Given the description of an element on the screen output the (x, y) to click on. 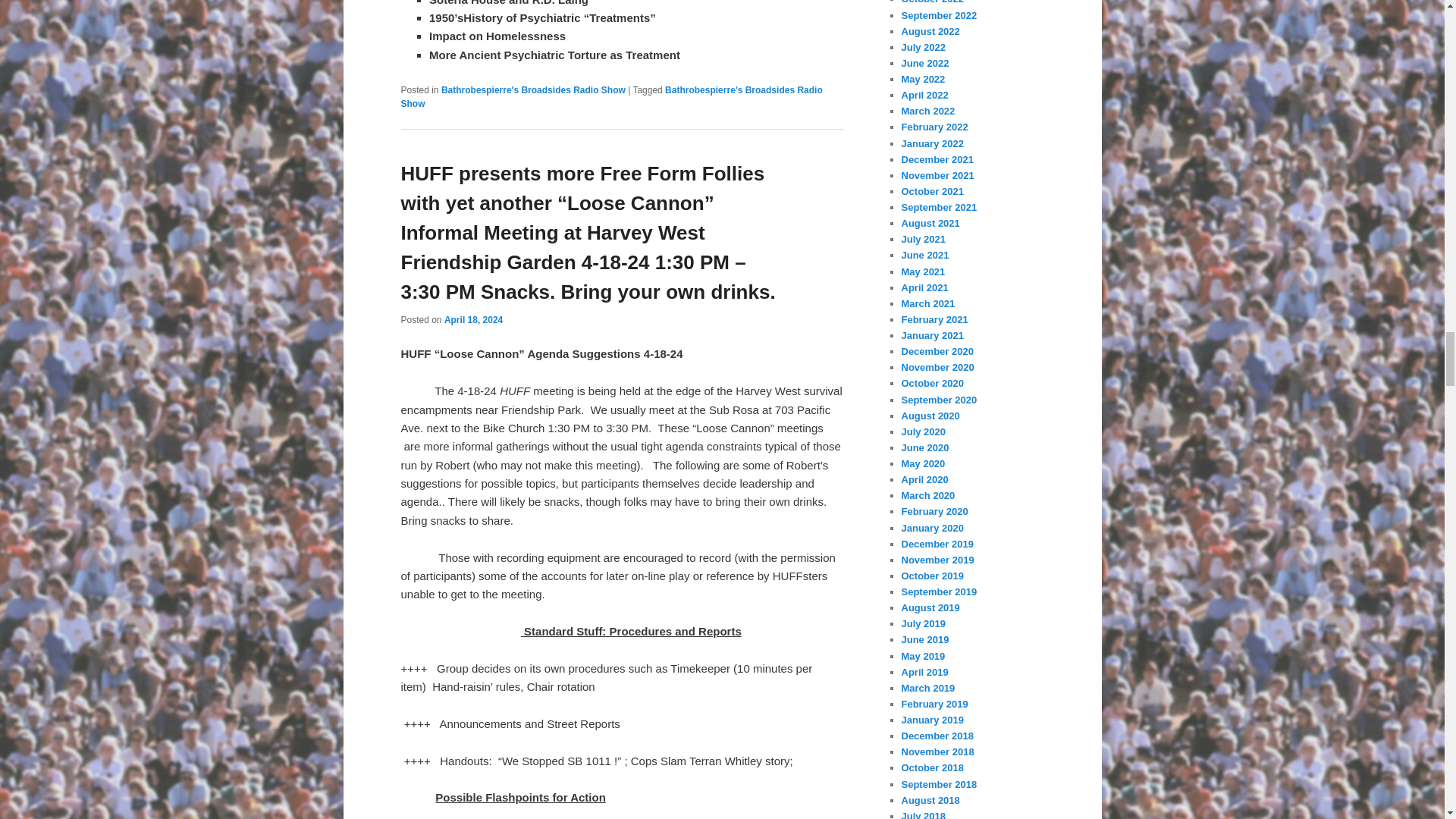
April 18, 2024 (473, 319)
1:38 pm (473, 319)
Bathrobespierre's Broadsides Radio Show (533, 90)
